Given the description of an element on the screen output the (x, y) to click on. 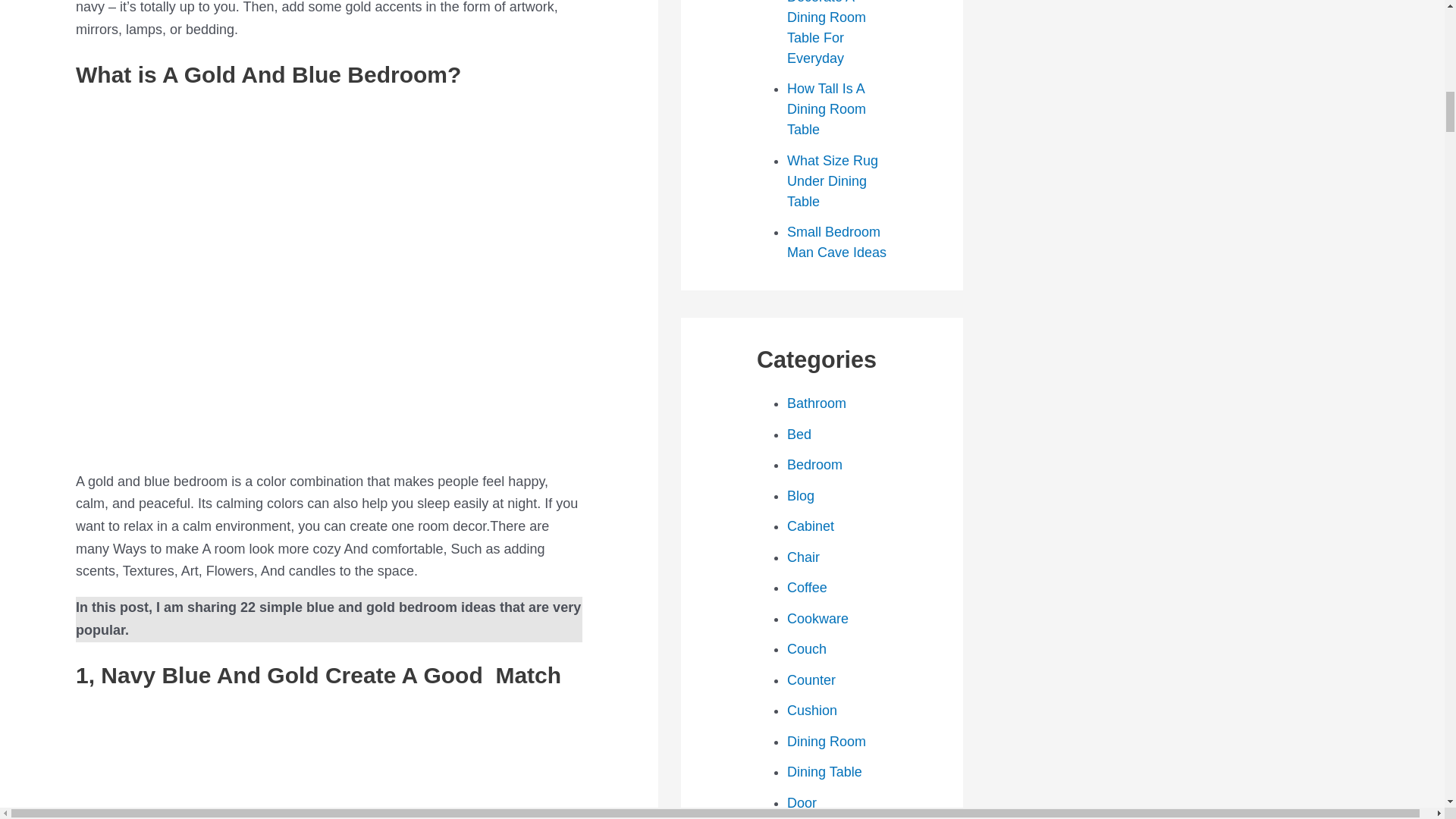
What Size Rug Under Dining Table (832, 181)
How Tall Is A Dining Room Table (826, 109)
Bathroom (816, 403)
Small Bedroom Man Cave Ideas (836, 242)
How To Decorate A Dining Room Table For Everyday (826, 33)
